Given the description of an element on the screen output the (x, y) to click on. 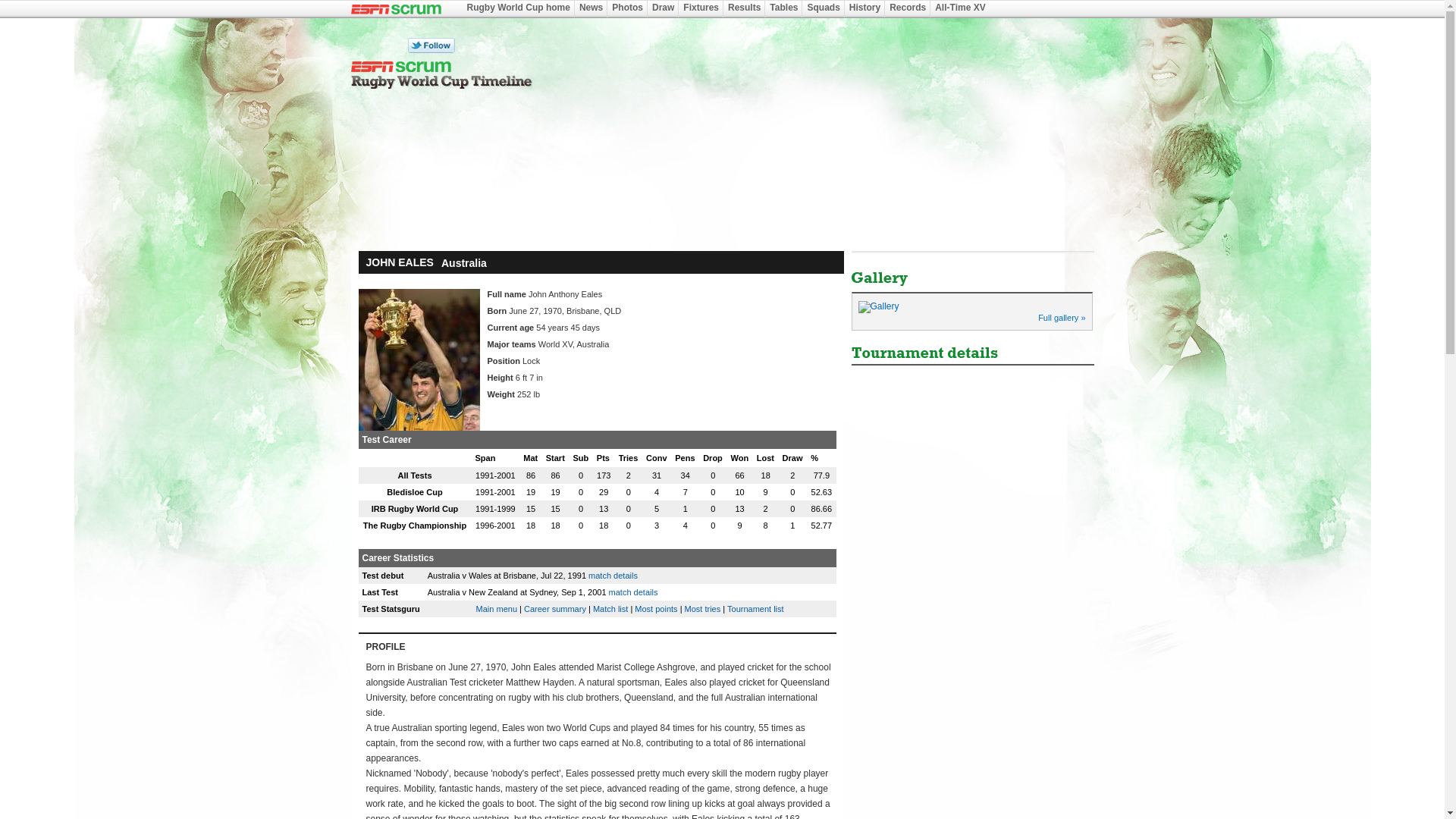
Records (907, 7)
Draw (663, 7)
Fixtures (700, 7)
Most tries (702, 608)
match details (633, 592)
History (864, 7)
matches in the starting lineup (555, 457)
Most points (655, 608)
All-Time XV (959, 7)
News (590, 7)
